Given the description of an element on the screen output the (x, y) to click on. 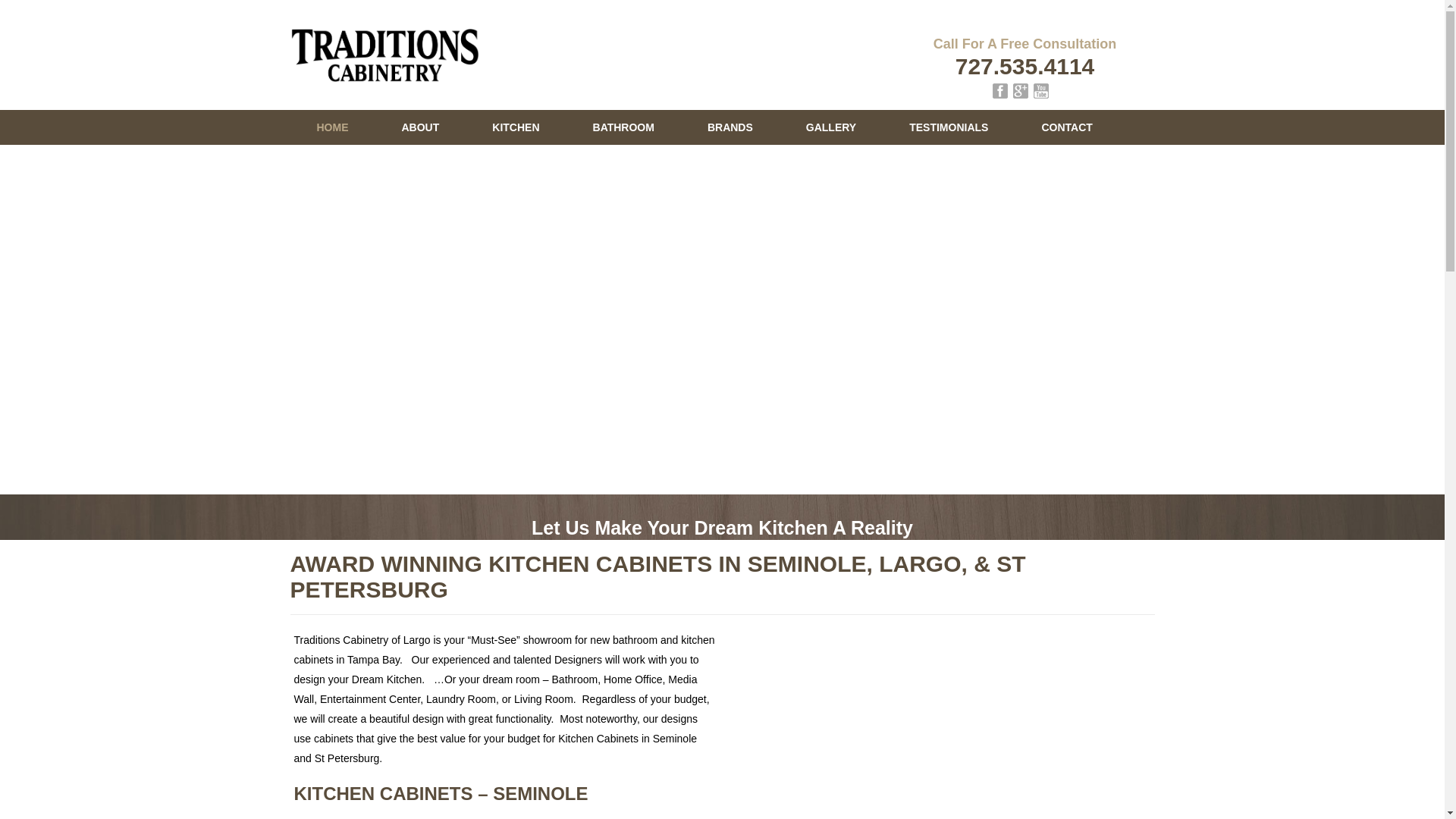
HOME (331, 126)
ABOUT (419, 126)
YouTube (1040, 90)
Traditions Cabinetry (384, 53)
KITCHEN (515, 126)
Facebook (999, 90)
TESTIMONIALS (948, 126)
GALLERY (830, 126)
BRANDS (729, 126)
727.535.4114 (1024, 66)
BATHROOM (623, 126)
CONTACT (1066, 126)
Google Plus (1020, 90)
